Given the description of an element on the screen output the (x, y) to click on. 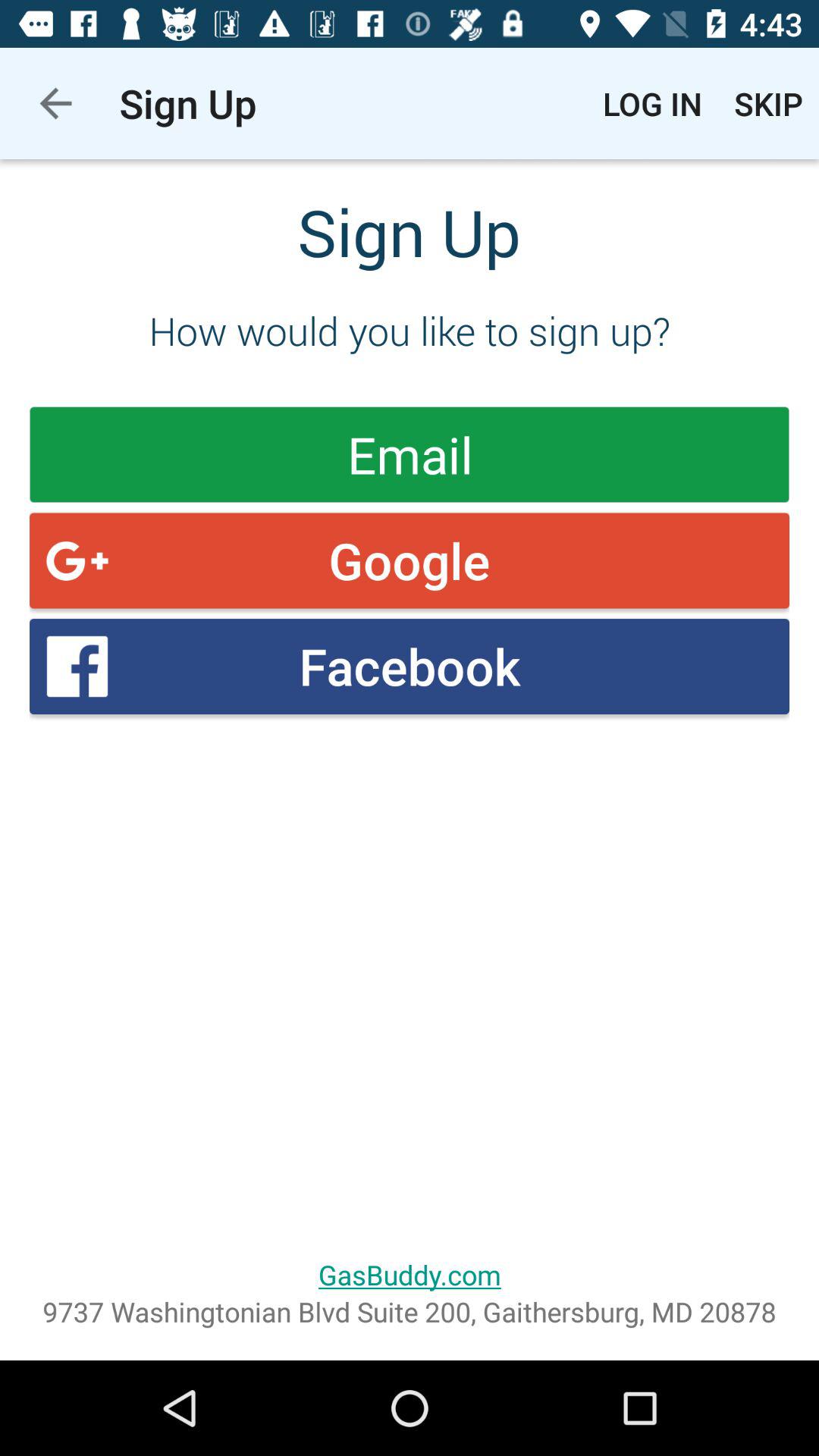
open the item above the how would you item (768, 103)
